Given the description of an element on the screen output the (x, y) to click on. 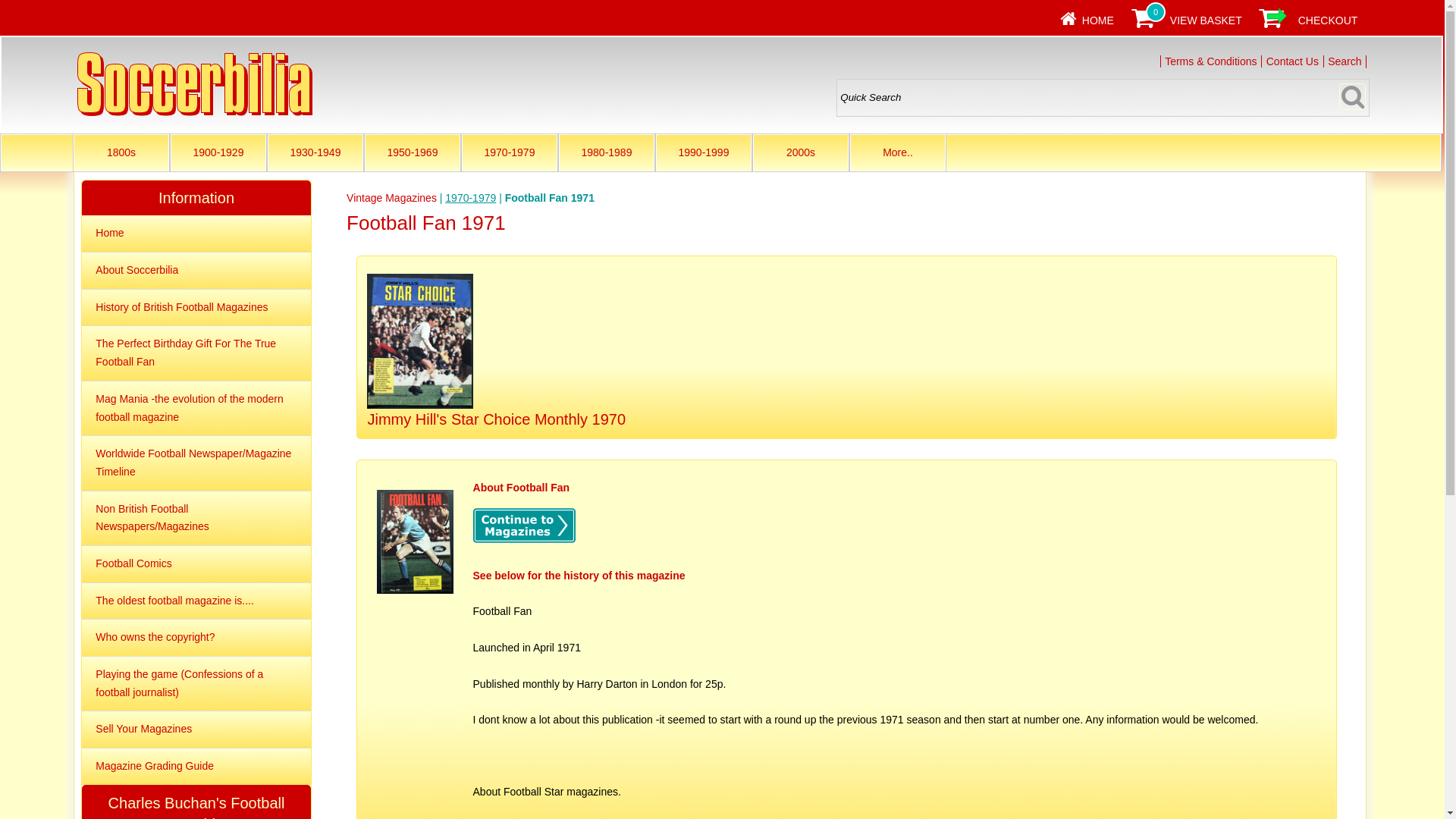
Soccerbilia Vintage Magazines (195, 84)
CHECKOUT (1328, 20)
HOME (1097, 20)
VIEW BASKET (1205, 20)
1800s (121, 152)
Quick Search (1102, 97)
Go! (1352, 96)
Contact Us (1292, 61)
Quick Search (1102, 97)
Go! (1352, 96)
1900-1929 (218, 152)
Go! (1352, 96)
Search (1344, 61)
